Given the description of an element on the screen output the (x, y) to click on. 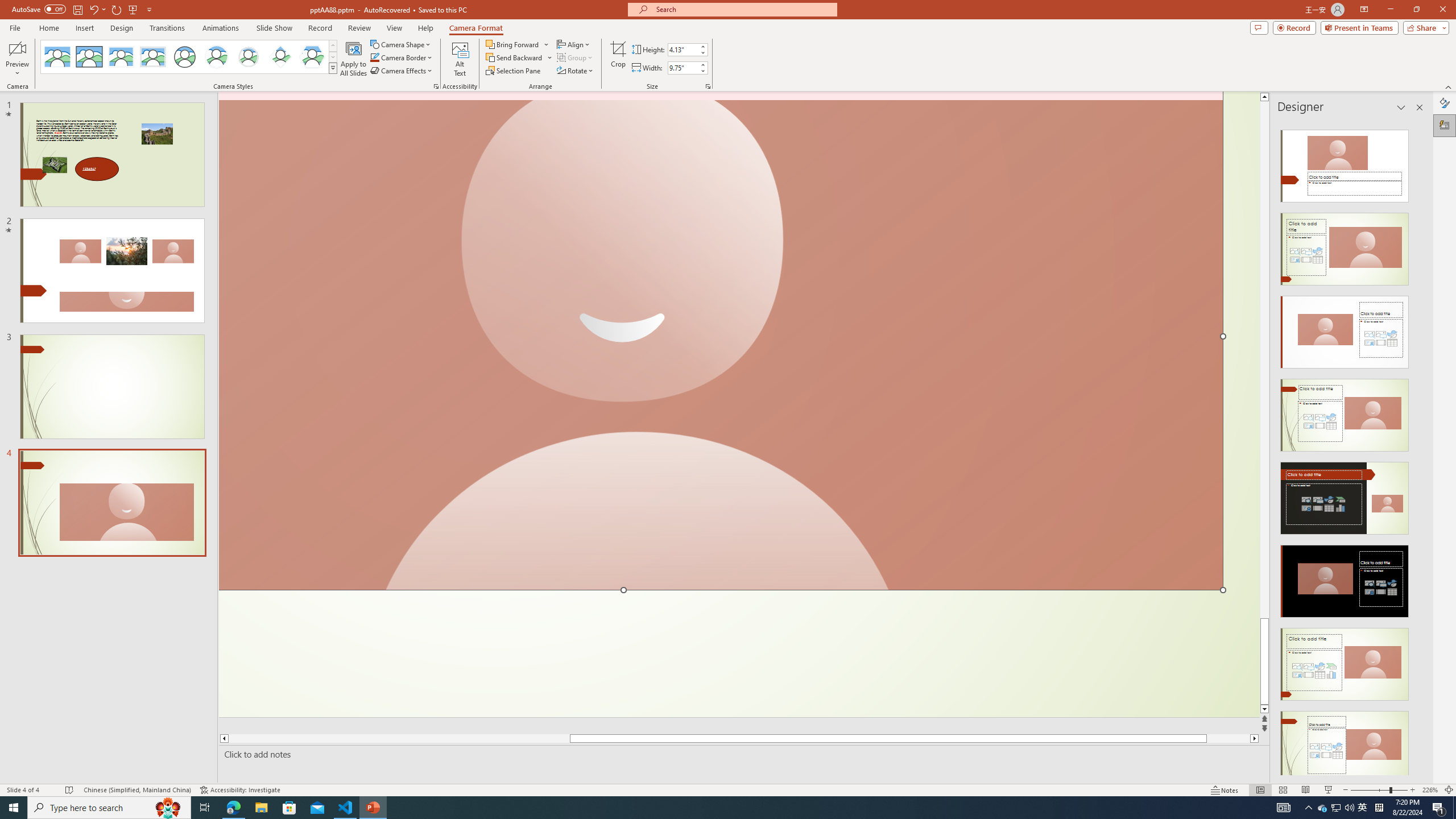
Send Backward (514, 56)
Size and Position... (707, 85)
Group (575, 56)
